Given the description of an element on the screen output the (x, y) to click on. 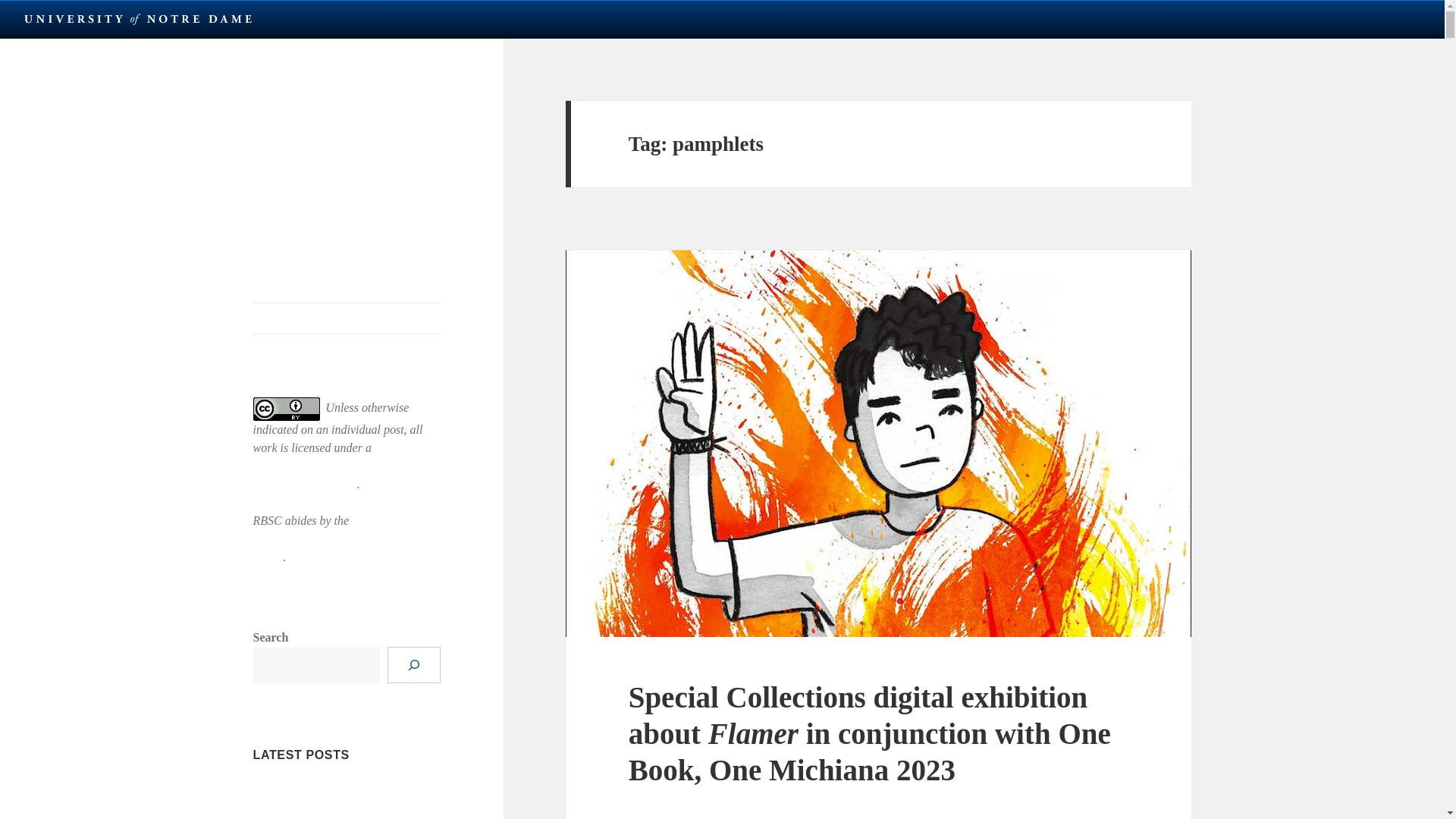
Creative Commons Attribution 4.0 International License (334, 465)
RBSC at ND (312, 112)
University Notre Dame (137, 18)
Hesburgh Libraries Copyright and Takedown Policy (338, 538)
RBSC Website (347, 318)
